Given the description of an element on the screen output the (x, y) to click on. 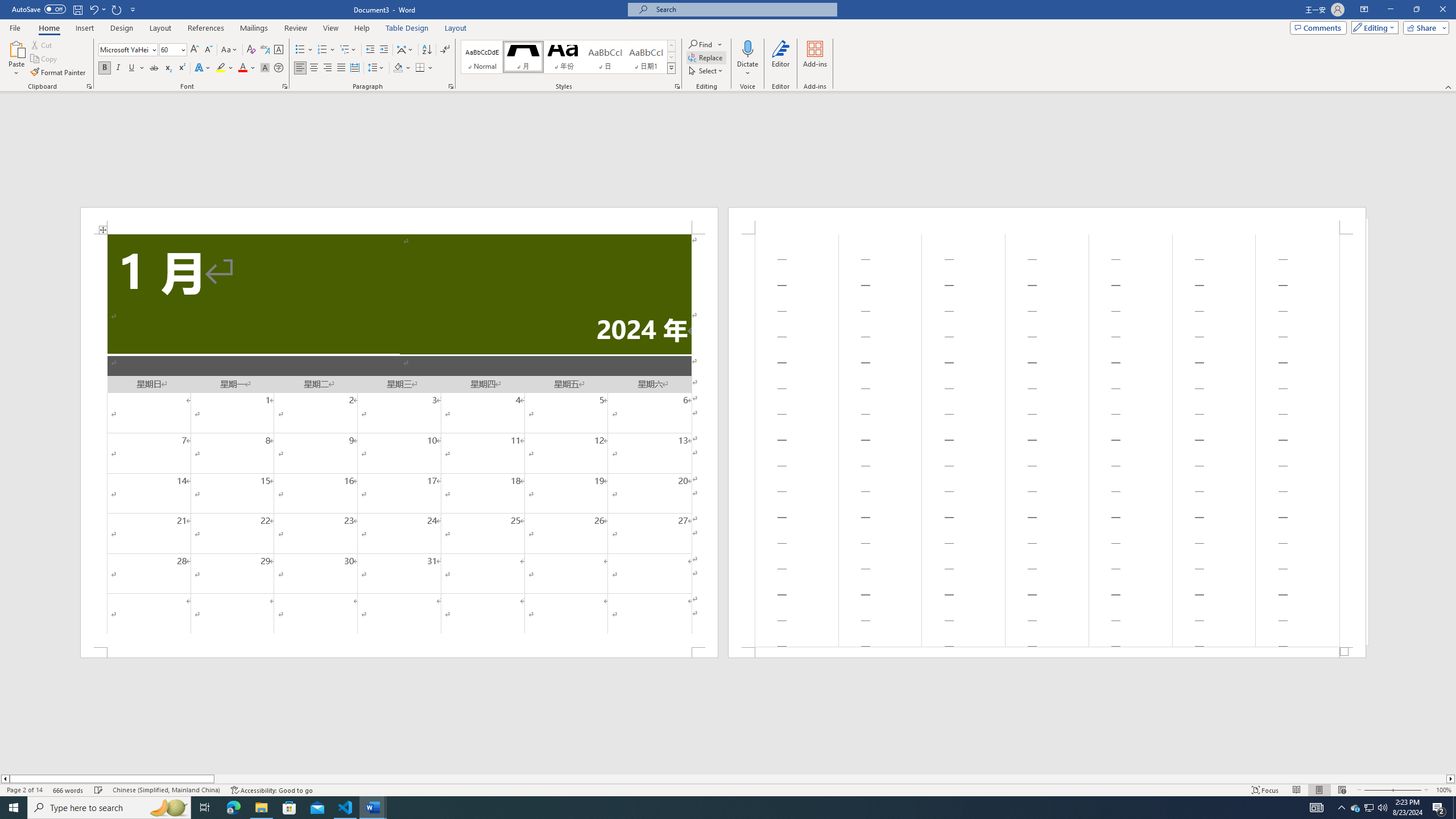
Restore Down (1416, 9)
Page 1 content (398, 440)
Borders (424, 67)
Text Highlight Color (224, 67)
Quick Access Toolbar (74, 9)
Editor (780, 58)
Font (128, 49)
Undo Apply Quick Style (96, 9)
Increase Indent (383, 49)
Shading (402, 67)
Character Shading (264, 67)
AutoSave (38, 9)
Format Painter (58, 72)
Ribbon Display Options (1364, 9)
